Given the description of an element on the screen output the (x, y) to click on. 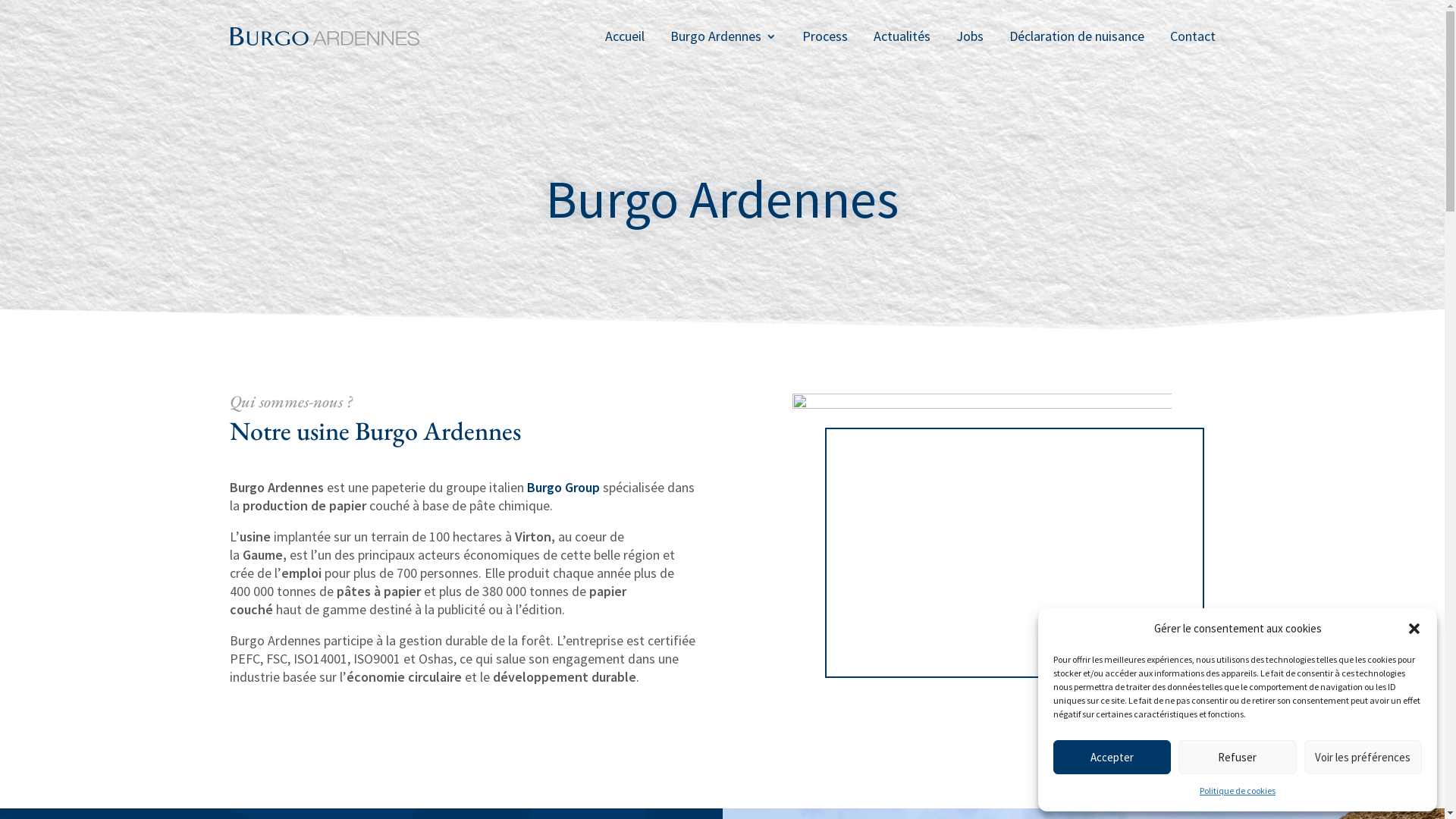
Jobs Element type: text (968, 36)
Process Element type: text (824, 36)
Politique de cookies Element type: text (1237, 790)
Accueil Element type: text (624, 36)
Accepter Element type: text (1111, 757)
Refuser Element type: text (1236, 757)
Contact Element type: text (1191, 36)
Burgo Group Element type: text (562, 486)
Burgo Ardennes Element type: text (723, 36)
